Given the description of an element on the screen output the (x, y) to click on. 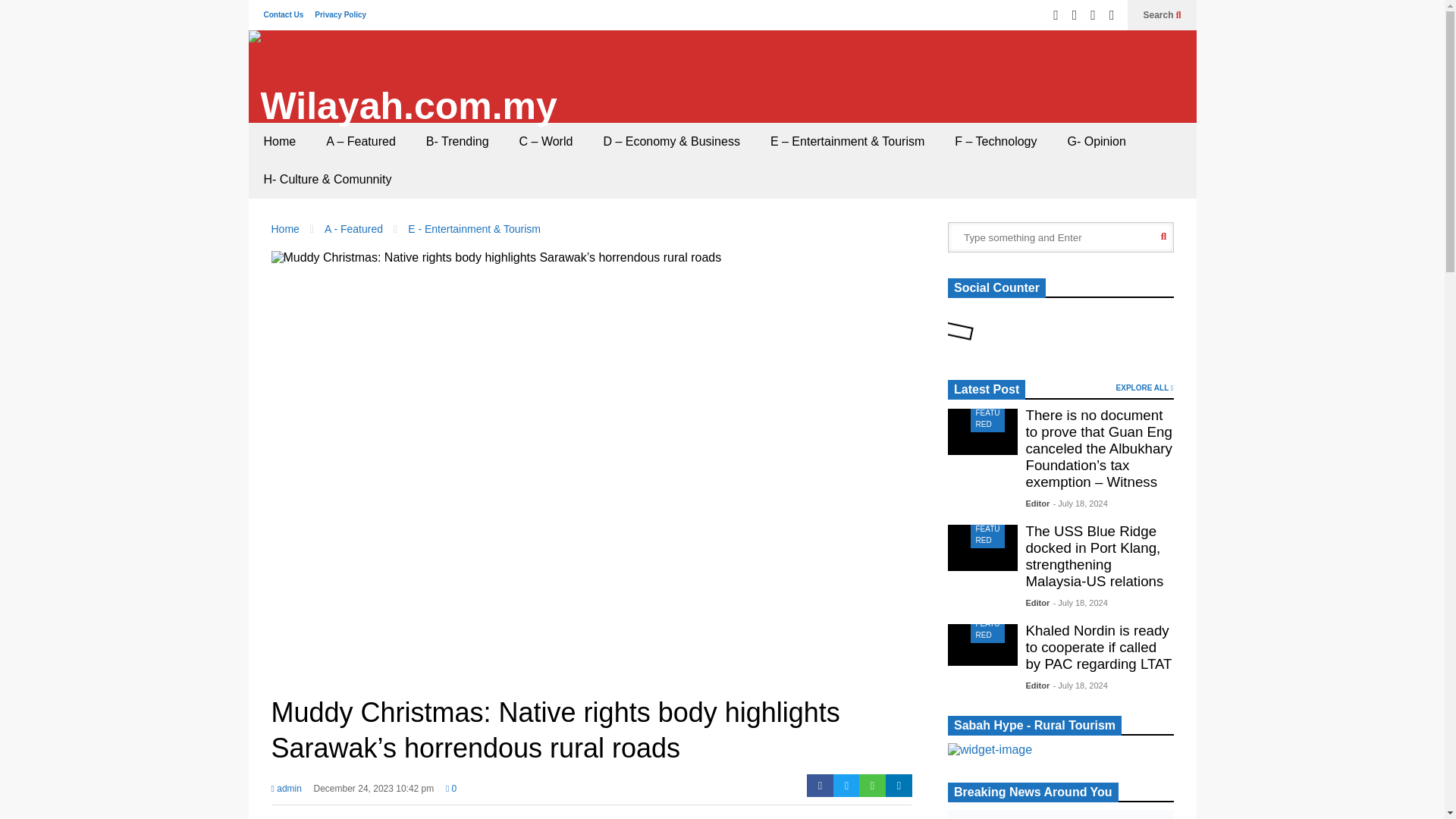
Contact Us (283, 14)
Linkedin (898, 784)
Twitter (1055, 15)
Home (284, 228)
Twitter (846, 784)
Facebook (1074, 15)
0 (451, 793)
G- Opinion (1095, 141)
Home (279, 141)
Youtube (1112, 15)
Wilayah.com.my (402, 105)
Whatsapp (872, 784)
admin (285, 793)
Search (1161, 15)
December 24, 2023 10:42 pm (373, 793)
